Given the description of an element on the screen output the (x, y) to click on. 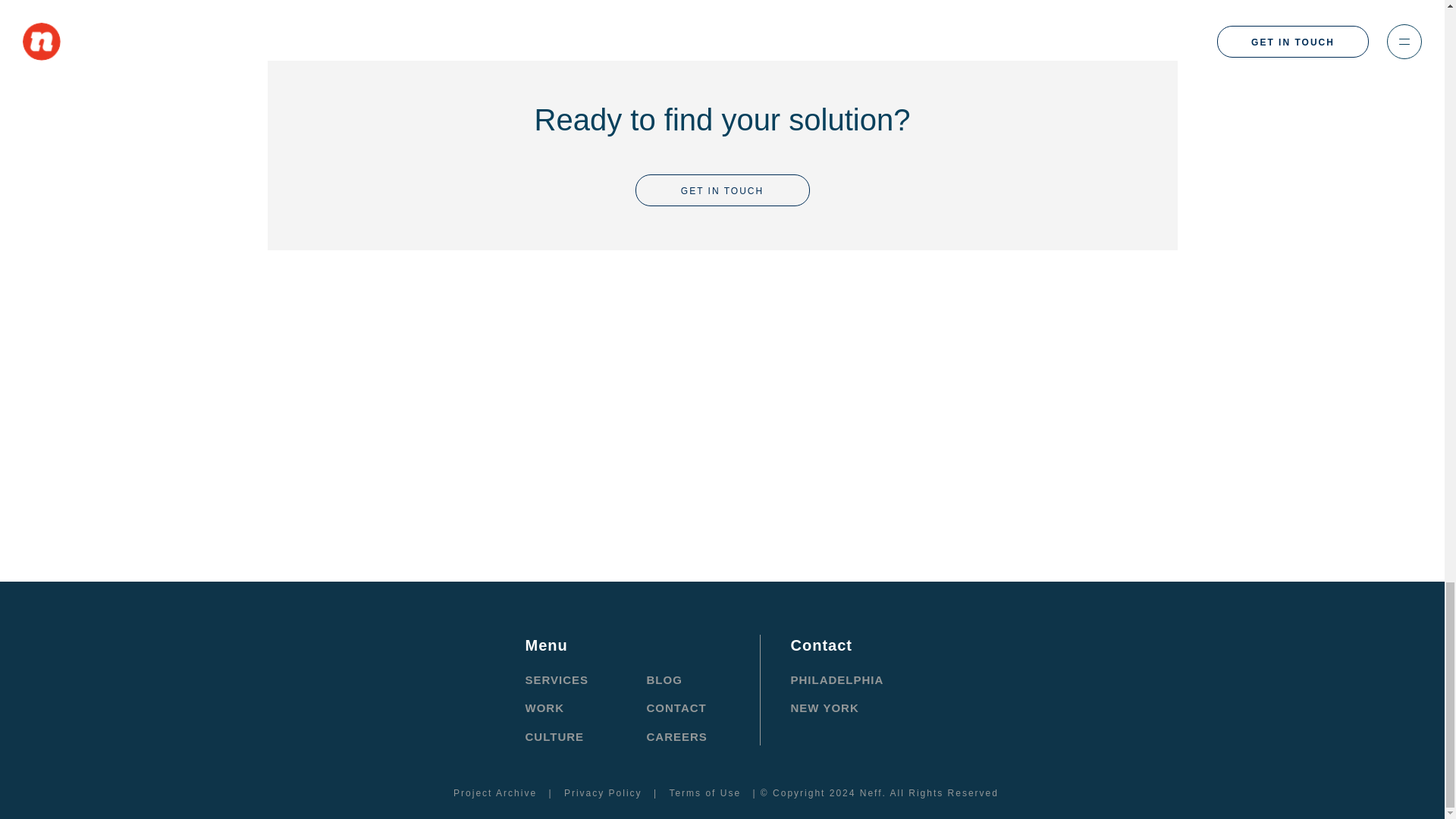
JOIN (990, 383)
JOIN (990, 383)
CULTURE (553, 736)
WORK (544, 707)
PHILADELPHIA (836, 679)
Project Archive (494, 792)
SERVICES (556, 679)
CAREERS (676, 736)
Privacy Policy (602, 792)
GET IN TOUCH (721, 190)
NEW YORK (824, 707)
BLOG (663, 679)
CONTACT (676, 707)
